Given the description of an element on the screen output the (x, y) to click on. 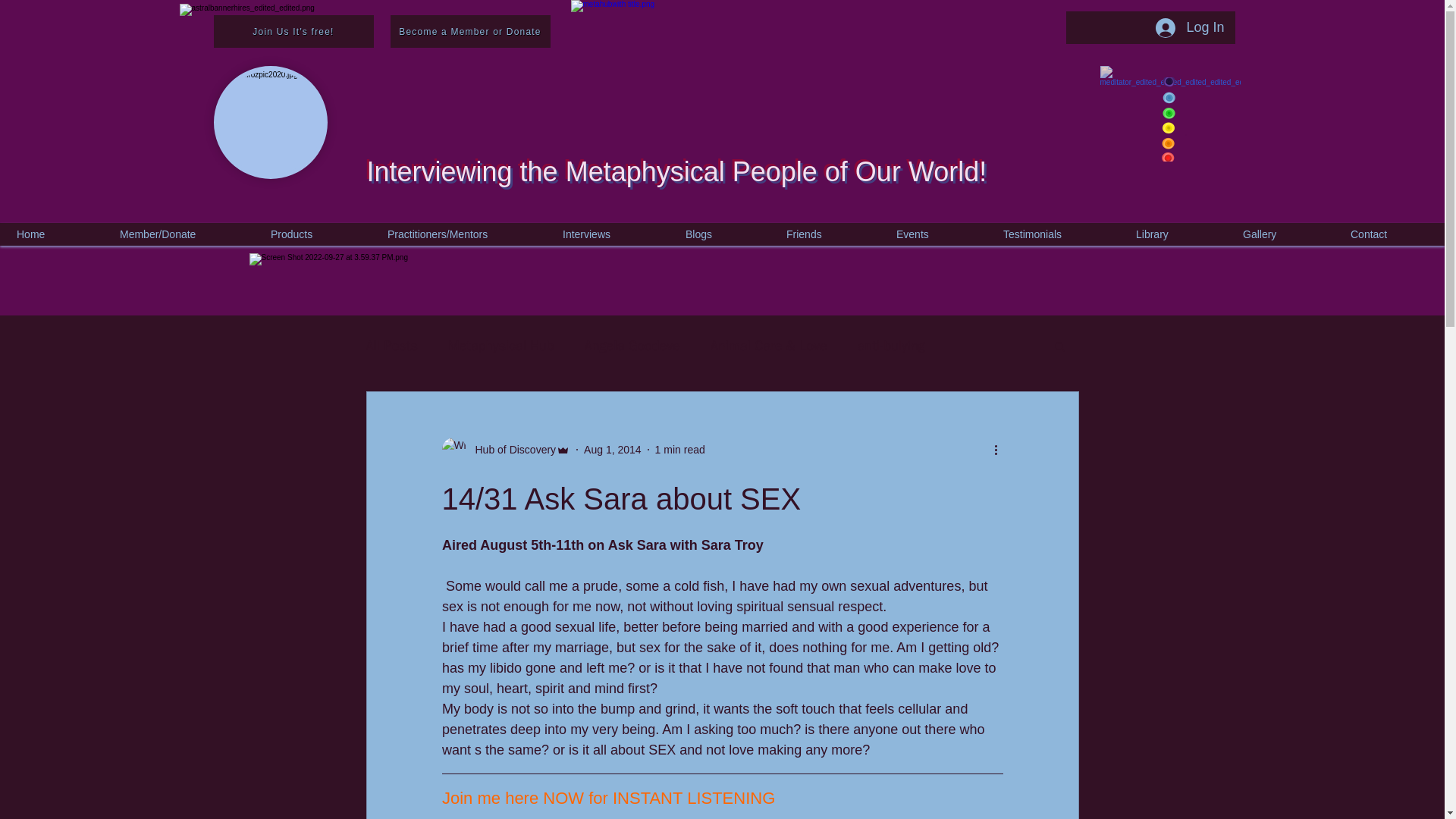
Products (314, 234)
Home (53, 234)
Friends (826, 234)
Join Us It's free! (294, 31)
Become a Member or Donate (470, 31)
Log In (1189, 27)
Blogs (721, 234)
Interviews (609, 234)
Library (1173, 234)
Metaphysical Hub (501, 345)
